Given the description of an element on the screen output the (x, y) to click on. 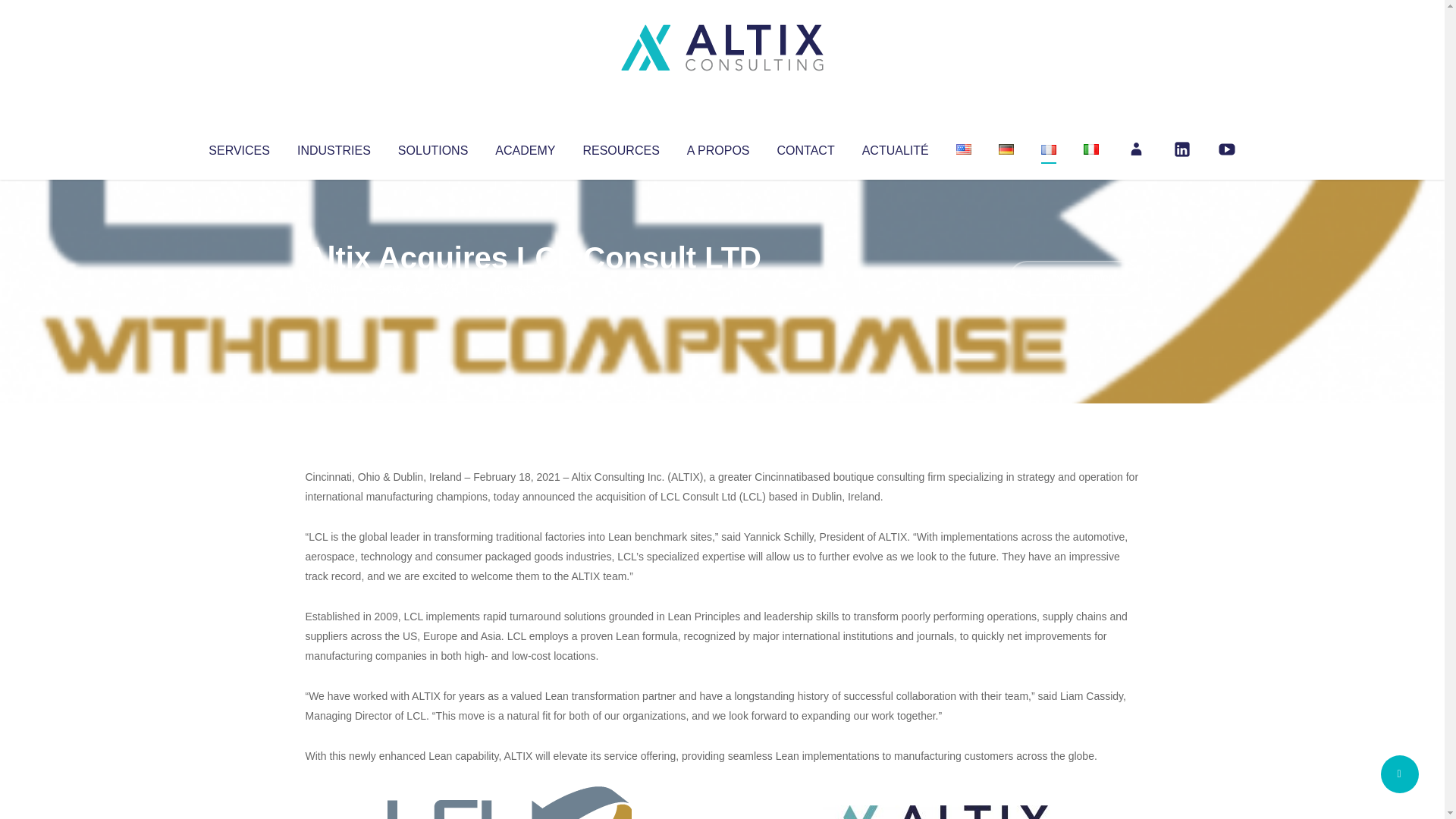
Articles par Altix (333, 287)
SOLUTIONS (432, 146)
No Comments (1073, 278)
Altix (333, 287)
RESOURCES (620, 146)
ACADEMY (524, 146)
INDUSTRIES (334, 146)
A PROPOS (718, 146)
SERVICES (238, 146)
Uncategorized (530, 287)
